Given the description of an element on the screen output the (x, y) to click on. 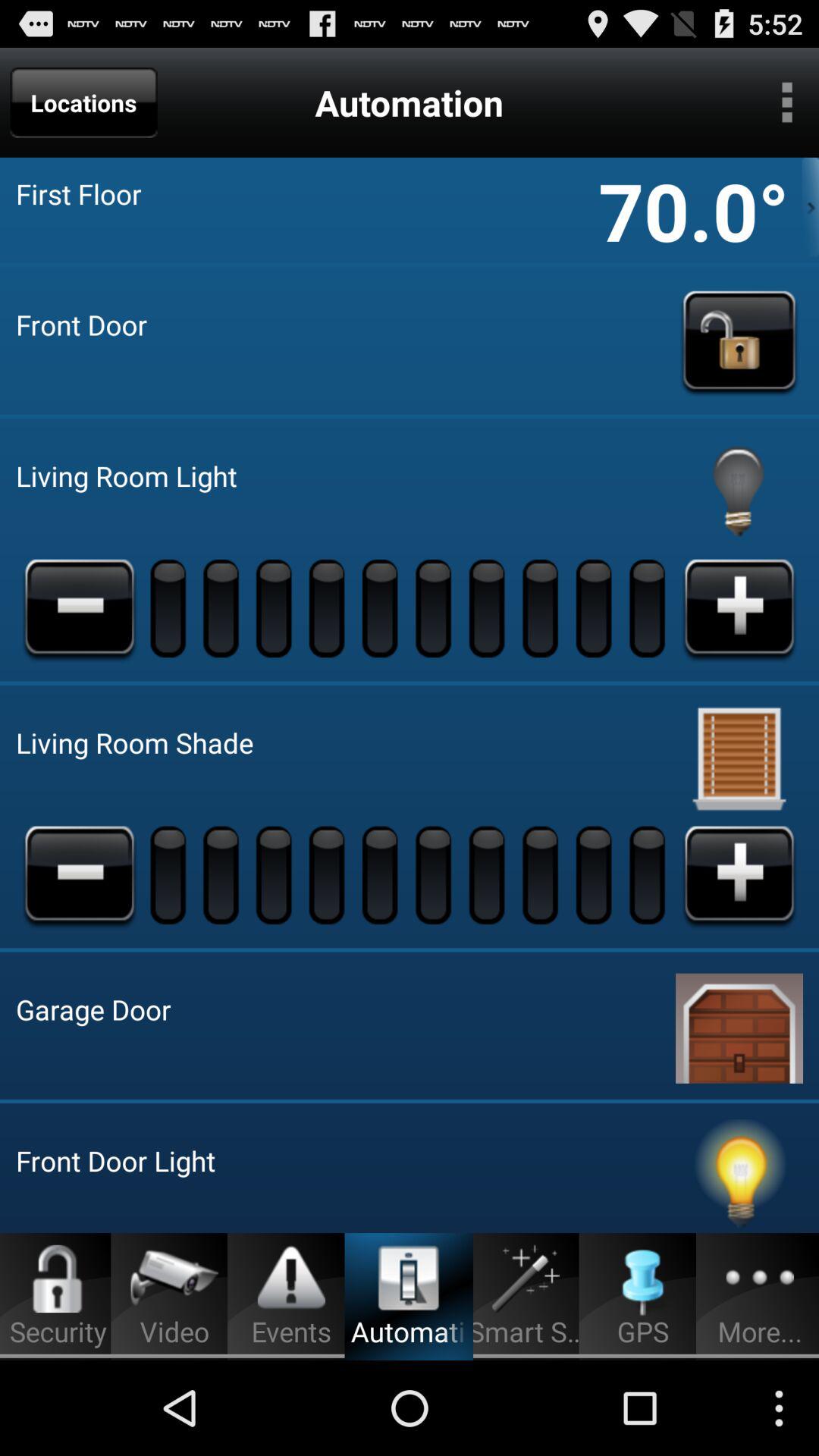
go to more (787, 102)
